Given the description of an element on the screen output the (x, y) to click on. 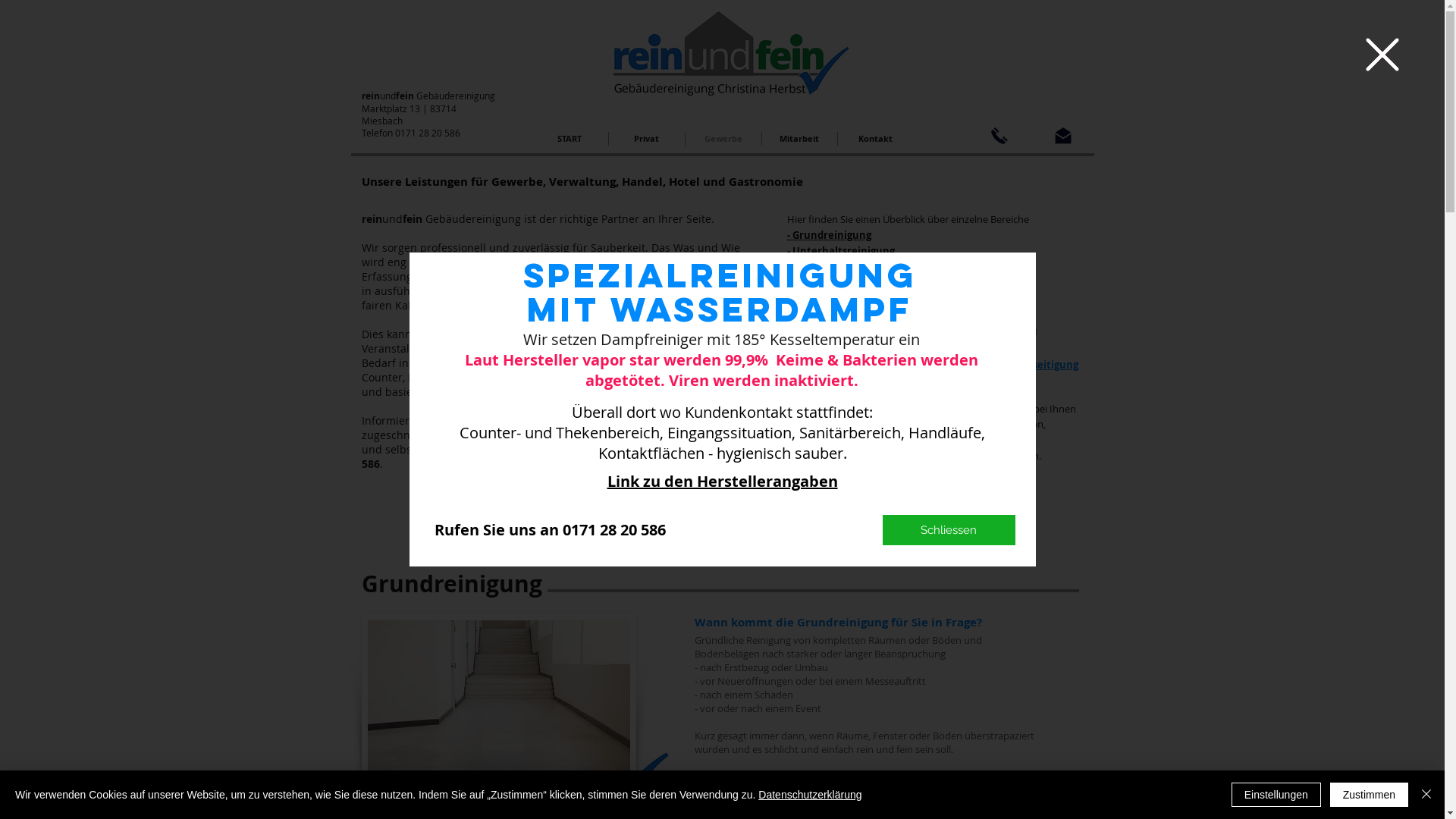
- Glasreinigung Element type: text (823, 297)
Gewerbe Element type: text (723, 138)
- Industriereinigung Element type: text (836, 281)
Privat Element type: text (646, 138)
Einstellungen Element type: text (1276, 794)
Zustimmen Element type: text (1369, 794)
- Grundreinigung Element type: text (829, 234)
Tatortreinigung, Messie-Wohnungen, Geruchsbeseitigung Element type: text (934, 364)
- Baureinigung Element type: text (823, 266)
Mitarbeit Element type: text (798, 138)
- Unterhaltsreinigung Element type: text (840, 250)
- Teppichreinigung Element type: text (832, 313)
START Element type: text (568, 138)
Kontakt Element type: text (874, 138)
Link zu den Herstellerangaben Element type: text (721, 480)
